Given the description of an element on the screen output the (x, y) to click on. 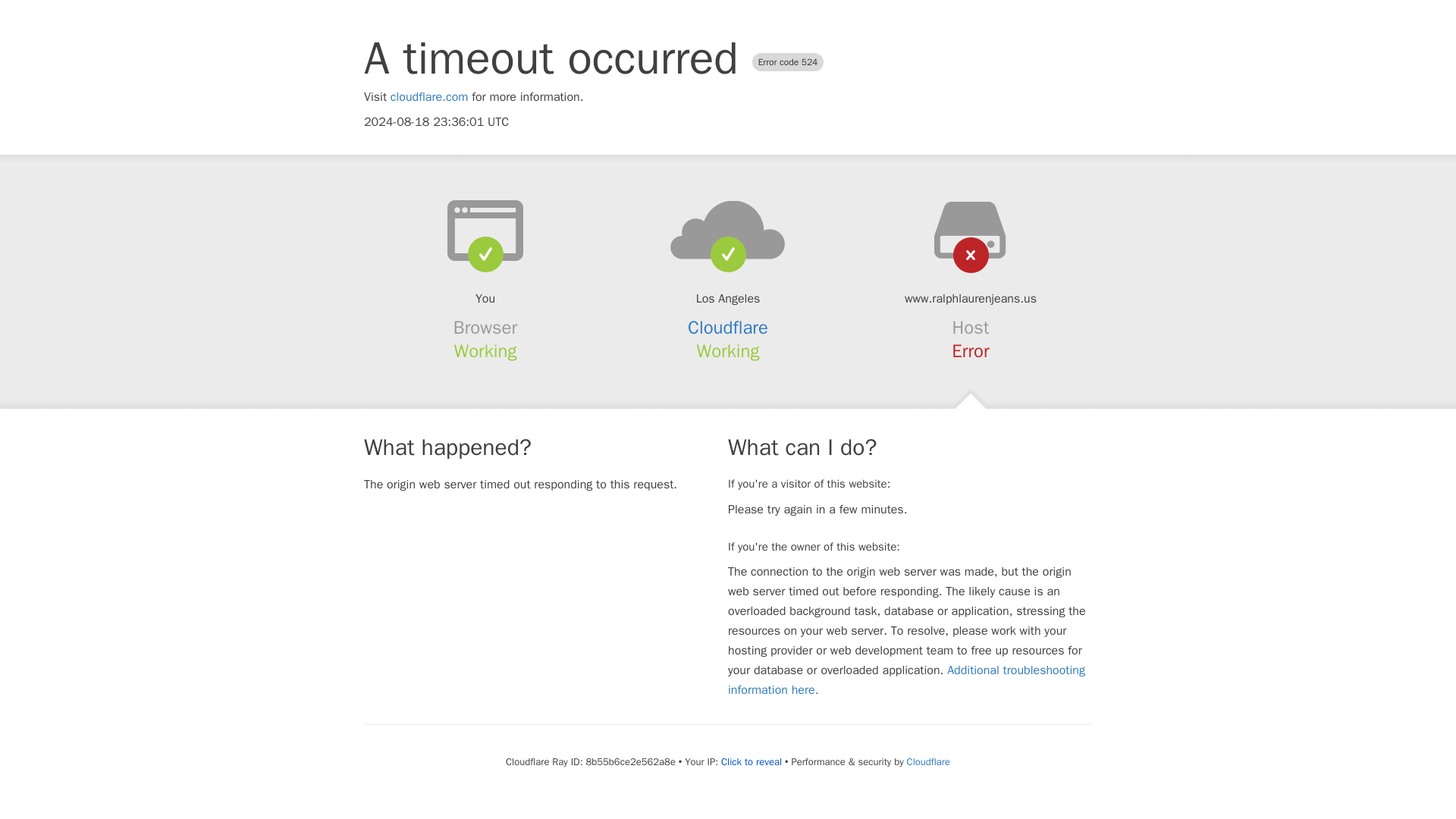
Click to reveal (750, 762)
Cloudflare (928, 761)
Cloudflare (727, 327)
Additional troubleshooting information here. (906, 679)
cloudflare.com (429, 96)
